Given the description of an element on the screen output the (x, y) to click on. 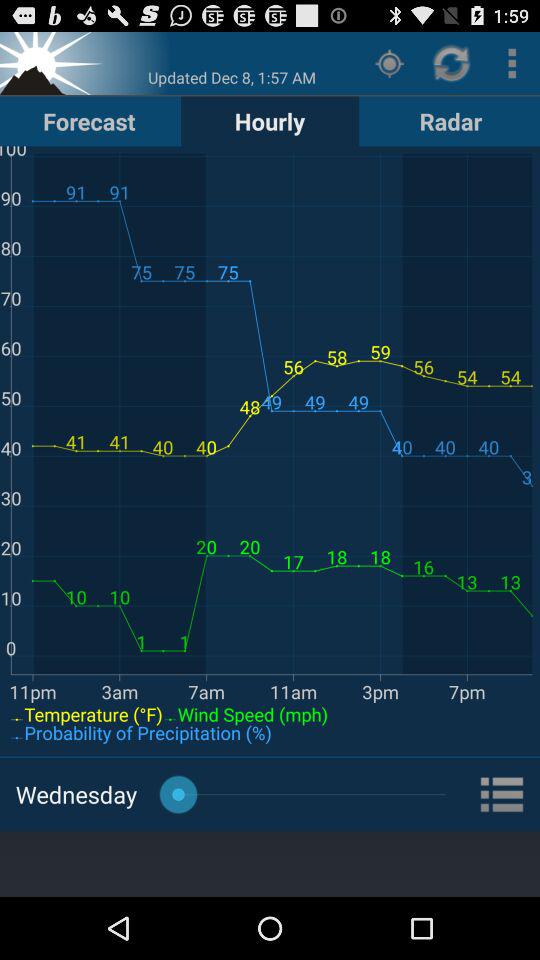
choose button next to the hourly item (450, 120)
